Given the description of an element on the screen output the (x, y) to click on. 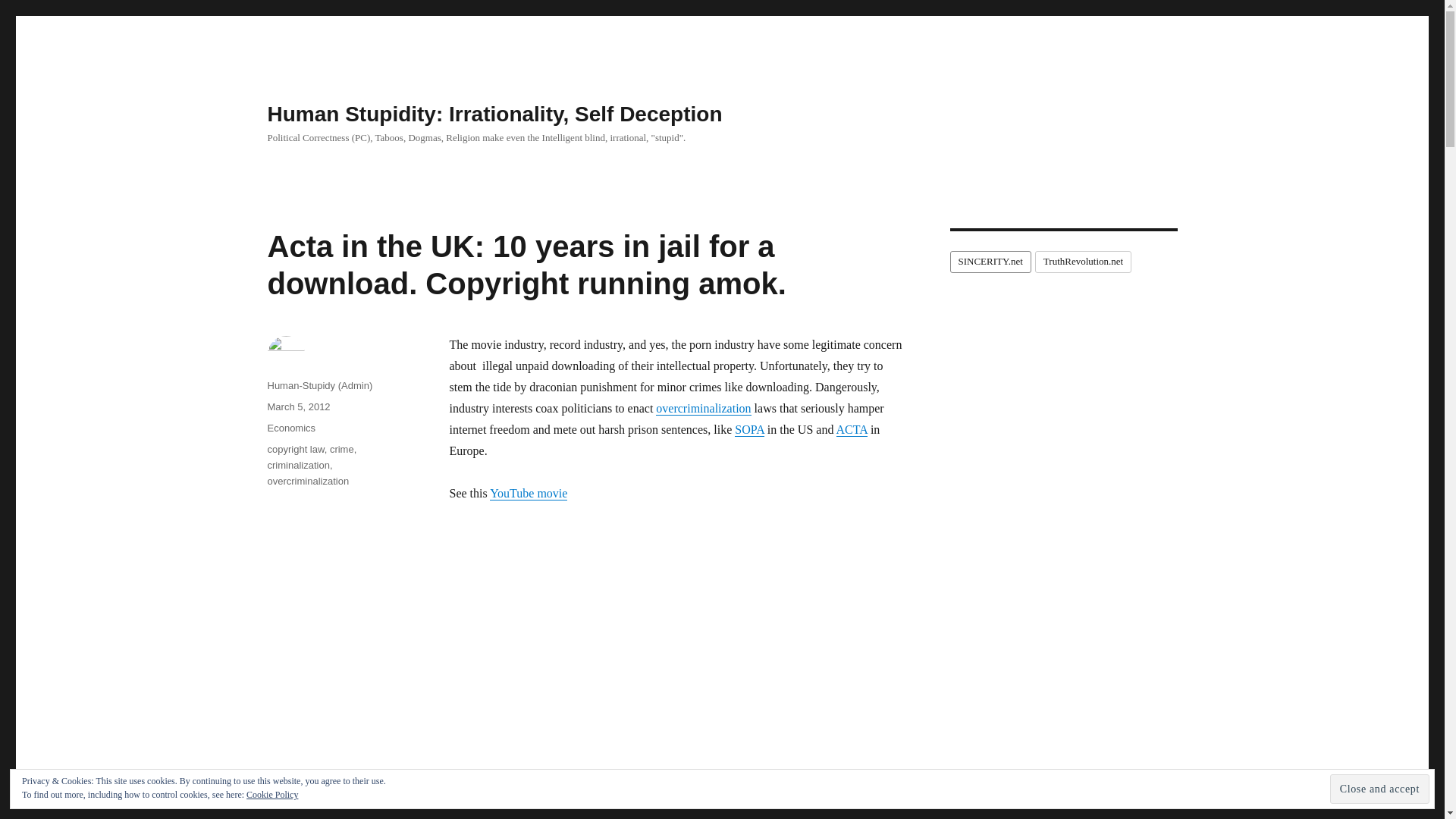
ACTA (850, 429)
March 5, 2012 (298, 406)
Human Stupidity: Irrationality, Self Deception (494, 114)
criminalization (297, 464)
Close and accept (1379, 788)
crime (341, 449)
Economics (290, 428)
SOPA (749, 429)
overcriminalization (307, 480)
copyright law (294, 449)
overcriminalization (703, 408)
strict punishment for normal behavior or trivial infractions (703, 408)
YouTube movie (528, 492)
